Given the description of an element on the screen output the (x, y) to click on. 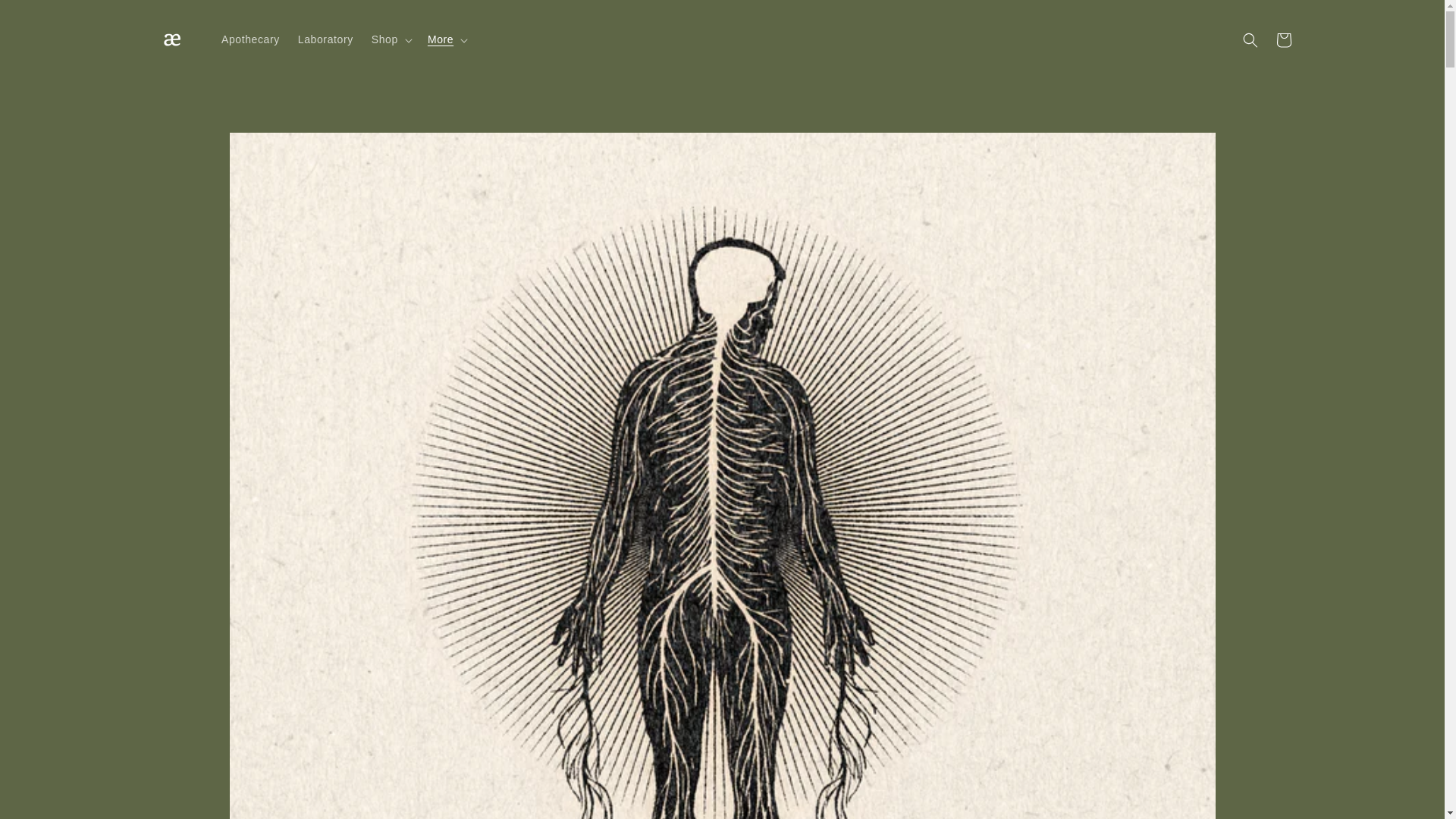
Laboratory (325, 39)
Skip to content (45, 16)
Cart (1283, 39)
Apothecary (250, 39)
